Given the description of an element on the screen output the (x, y) to click on. 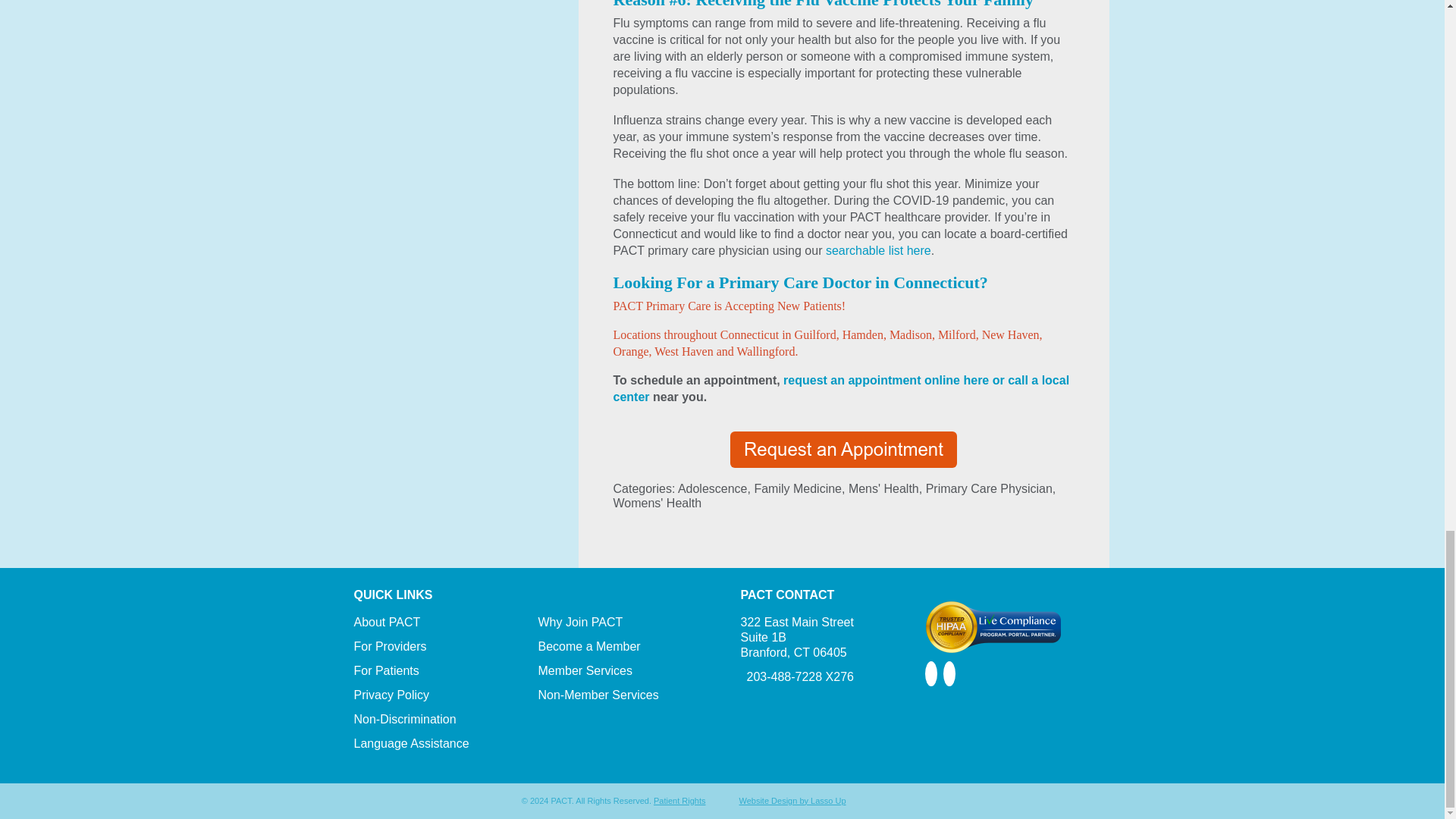
www.LiveCompliance.com (992, 626)
